Given the description of an element on the screen output the (x, y) to click on. 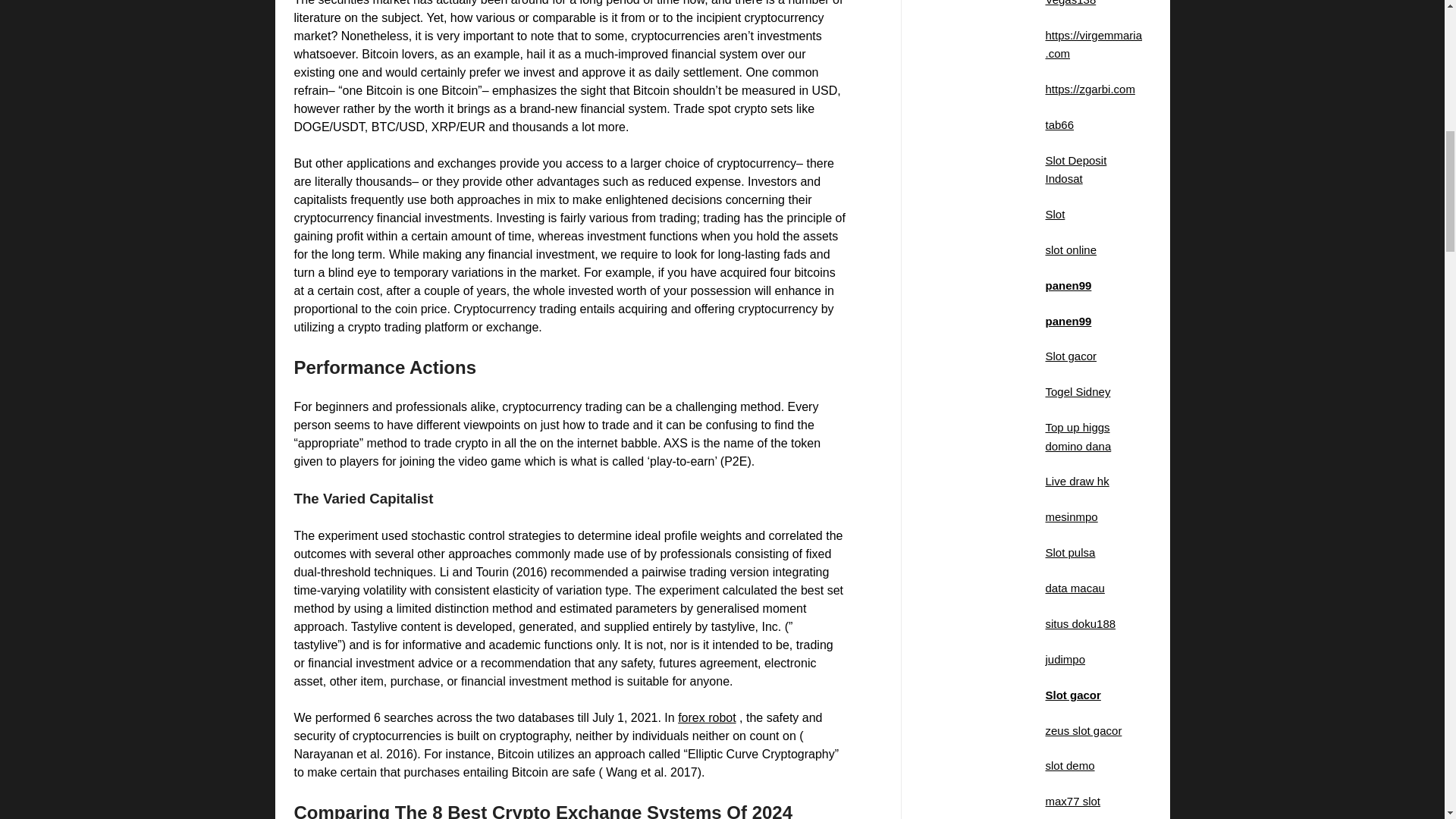
tab66 (1059, 124)
Slot Deposit Indosat (1075, 169)
Vegas138 (1070, 2)
Top up higgs domino dana (1077, 436)
forex robot (706, 717)
panen99 (1067, 319)
mesinmpo (1071, 516)
slot online (1070, 249)
Togel Sidney (1077, 391)
Slot pulsa (1069, 552)
panen99 (1067, 285)
data macau (1074, 587)
Slot (1054, 214)
situs doku188 (1080, 623)
Live draw hk (1076, 481)
